Given the description of an element on the screen output the (x, y) to click on. 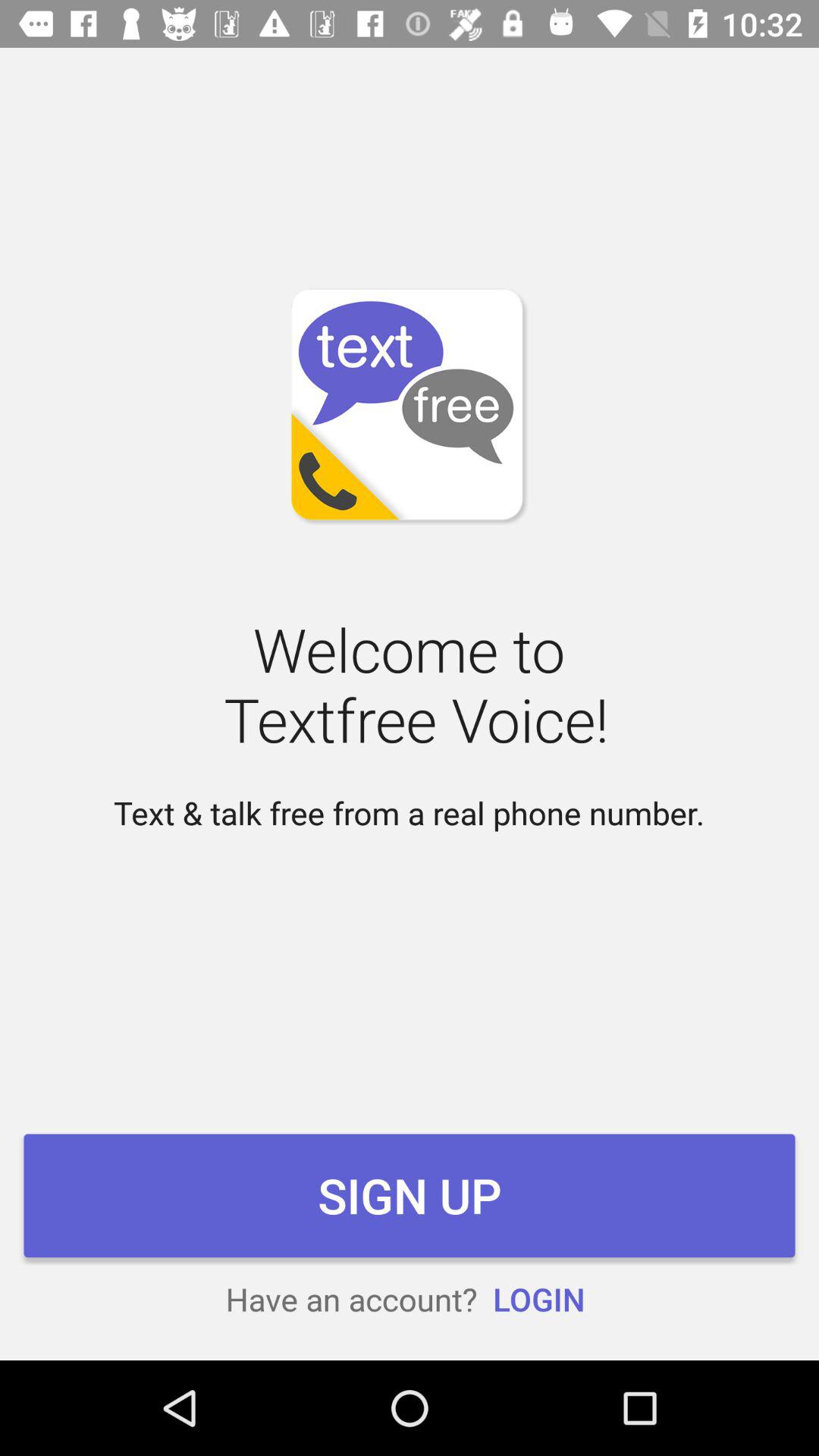
jump until login icon (539, 1298)
